Given the description of an element on the screen output the (x, y) to click on. 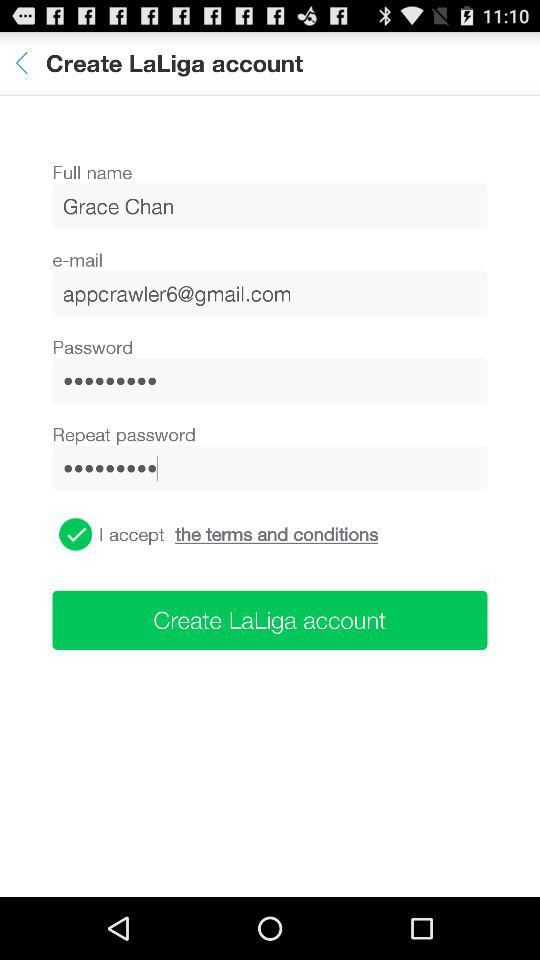
this button agrees the terms and conditions (75, 533)
